Given the description of an element on the screen output the (x, y) to click on. 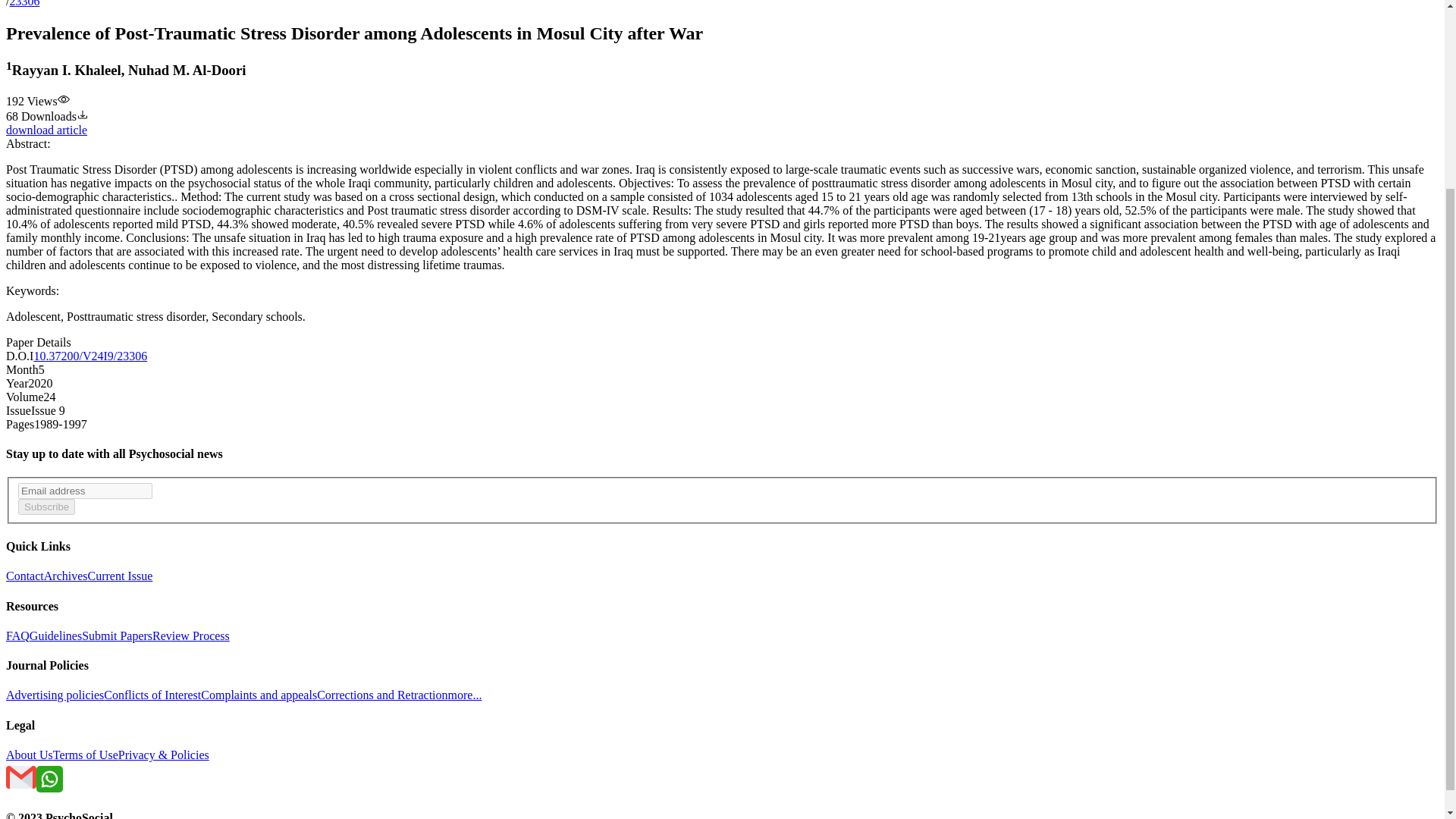
Review Process (191, 635)
About Us (28, 754)
Contact (24, 575)
download article (46, 129)
more... (464, 694)
Conflicts of Interest (151, 694)
Archives (65, 575)
Subscribe (46, 506)
Submit Papers (116, 635)
Guidelines (55, 635)
Advertising policies (54, 694)
Terms of Use (84, 754)
23306 (23, 3)
Complaints and appeals (258, 694)
FAQ (17, 635)
